Given the description of an element on the screen output the (x, y) to click on. 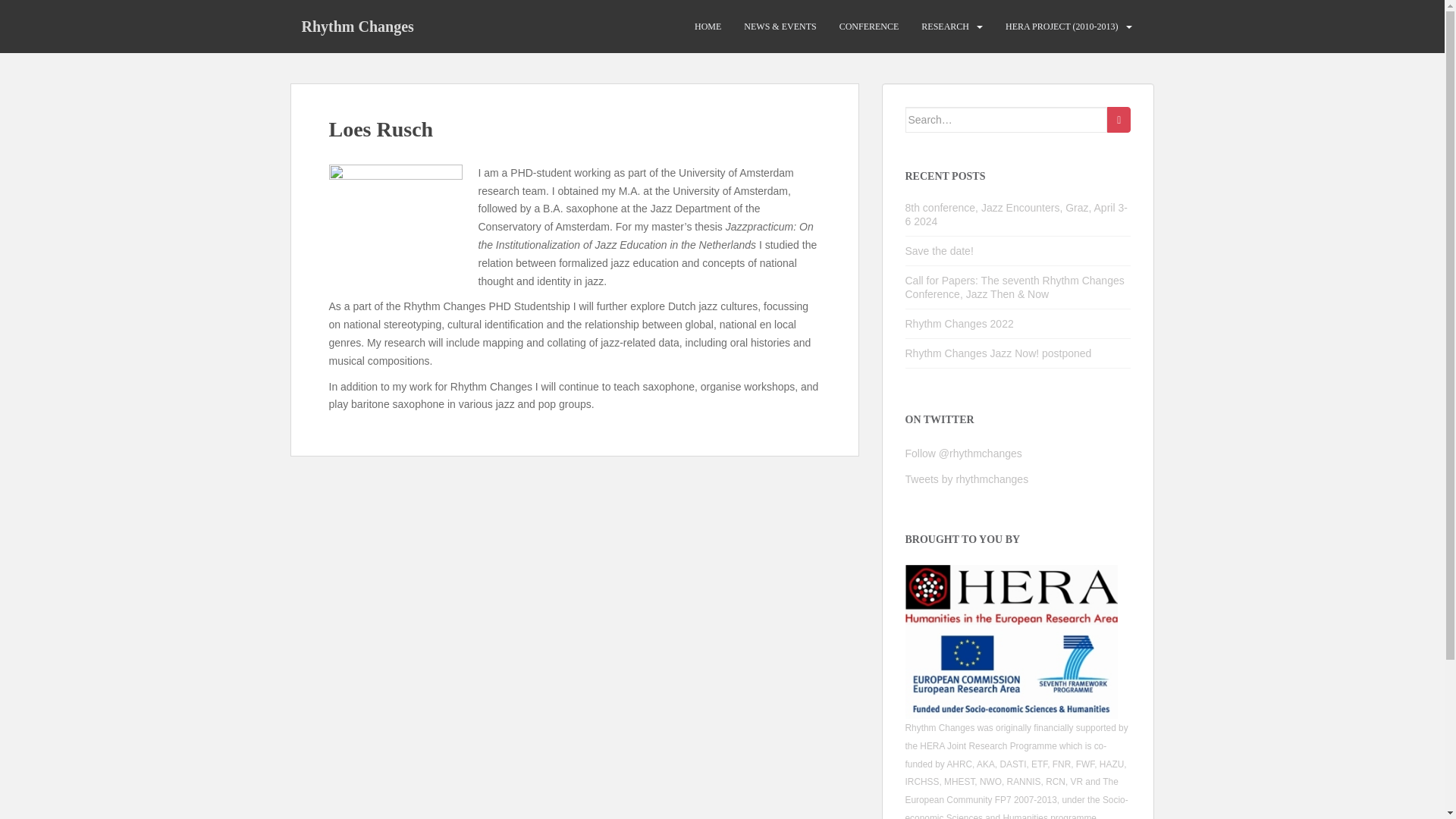
HERA Joint Research Programme (988, 746)
Rhythm Changes 2022 (959, 323)
Rhythm Changes (357, 26)
Tweets by rhythmchanges (967, 479)
CONFERENCE (869, 26)
Rhythm Changes Jazz Now! postponed (998, 353)
Search (1118, 119)
8th conference, Jazz Encounters, Graz, April 3-6 2024 (1015, 214)
Search for: (1006, 119)
Rhythm Changes (357, 26)
RESEARCH (945, 26)
ERA FP7 (1011, 671)
Save the date! (939, 250)
